Given the description of an element on the screen output the (x, y) to click on. 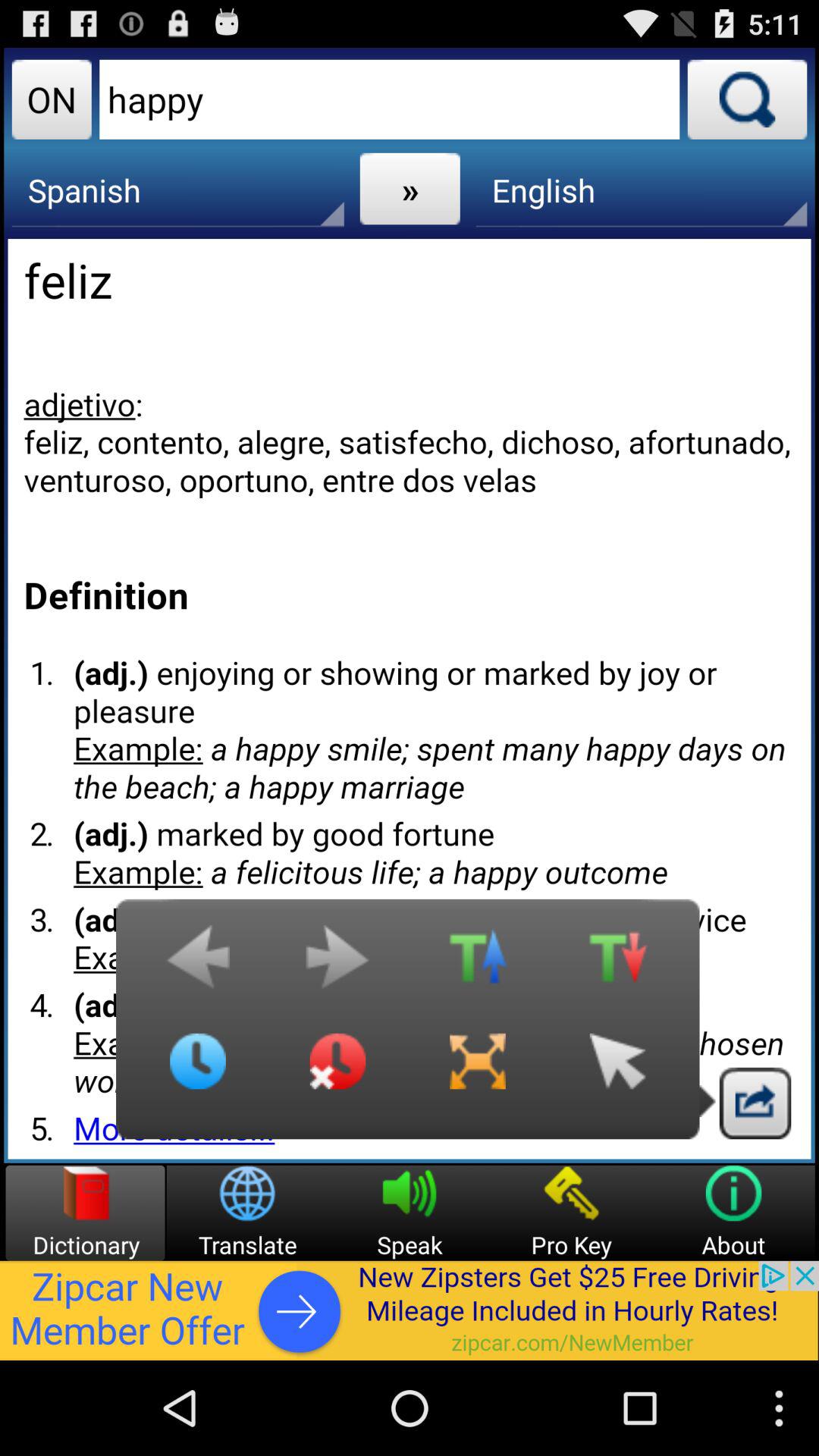
go to time seting (197, 1073)
